Given the description of an element on the screen output the (x, y) to click on. 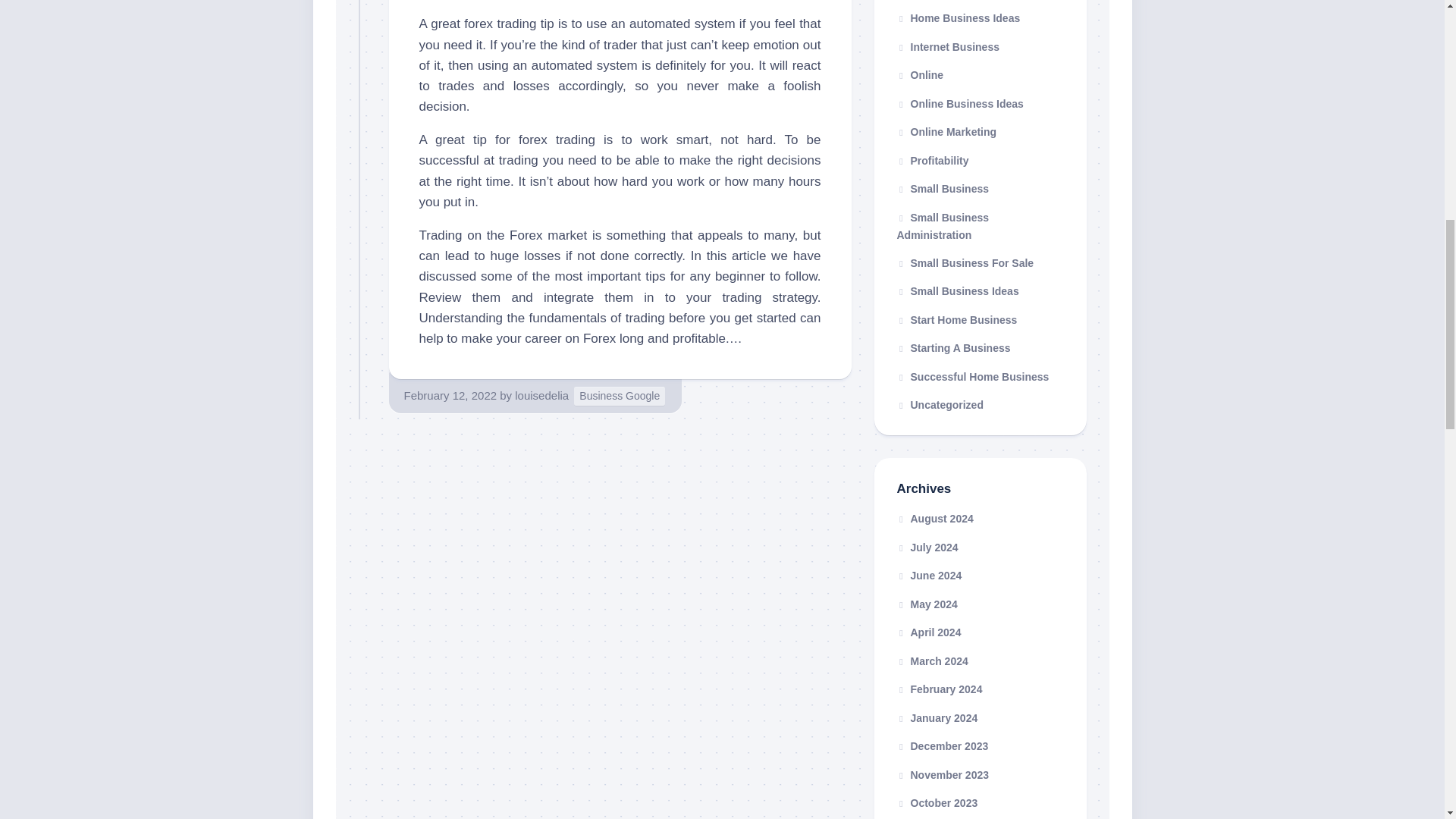
Business Google (619, 395)
Posts by louisedelia (542, 395)
louisedelia (542, 395)
